Given the description of an element on the screen output the (x, y) to click on. 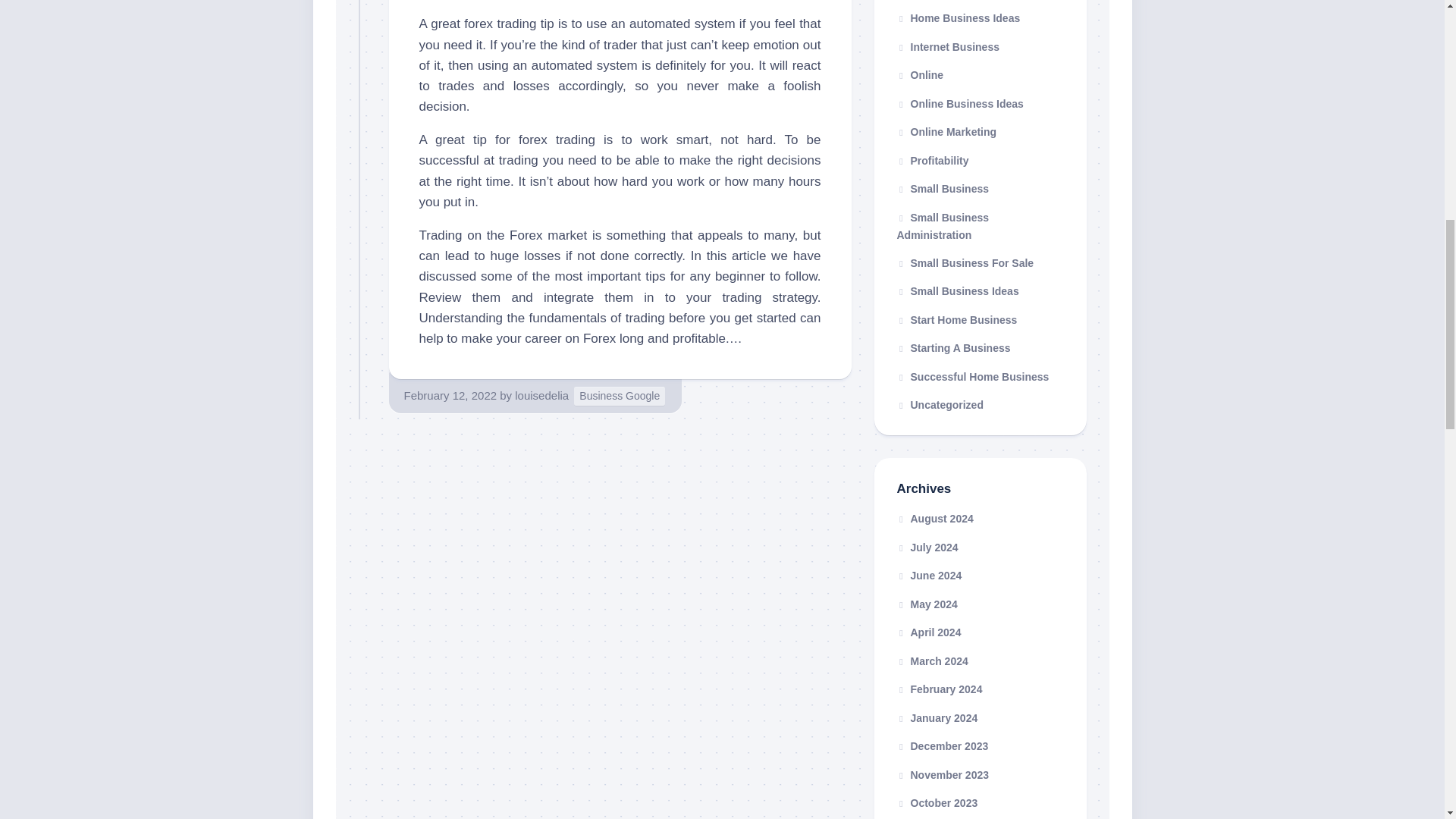
Business Google (619, 395)
Posts by louisedelia (542, 395)
louisedelia (542, 395)
